Given the description of an element on the screen output the (x, y) to click on. 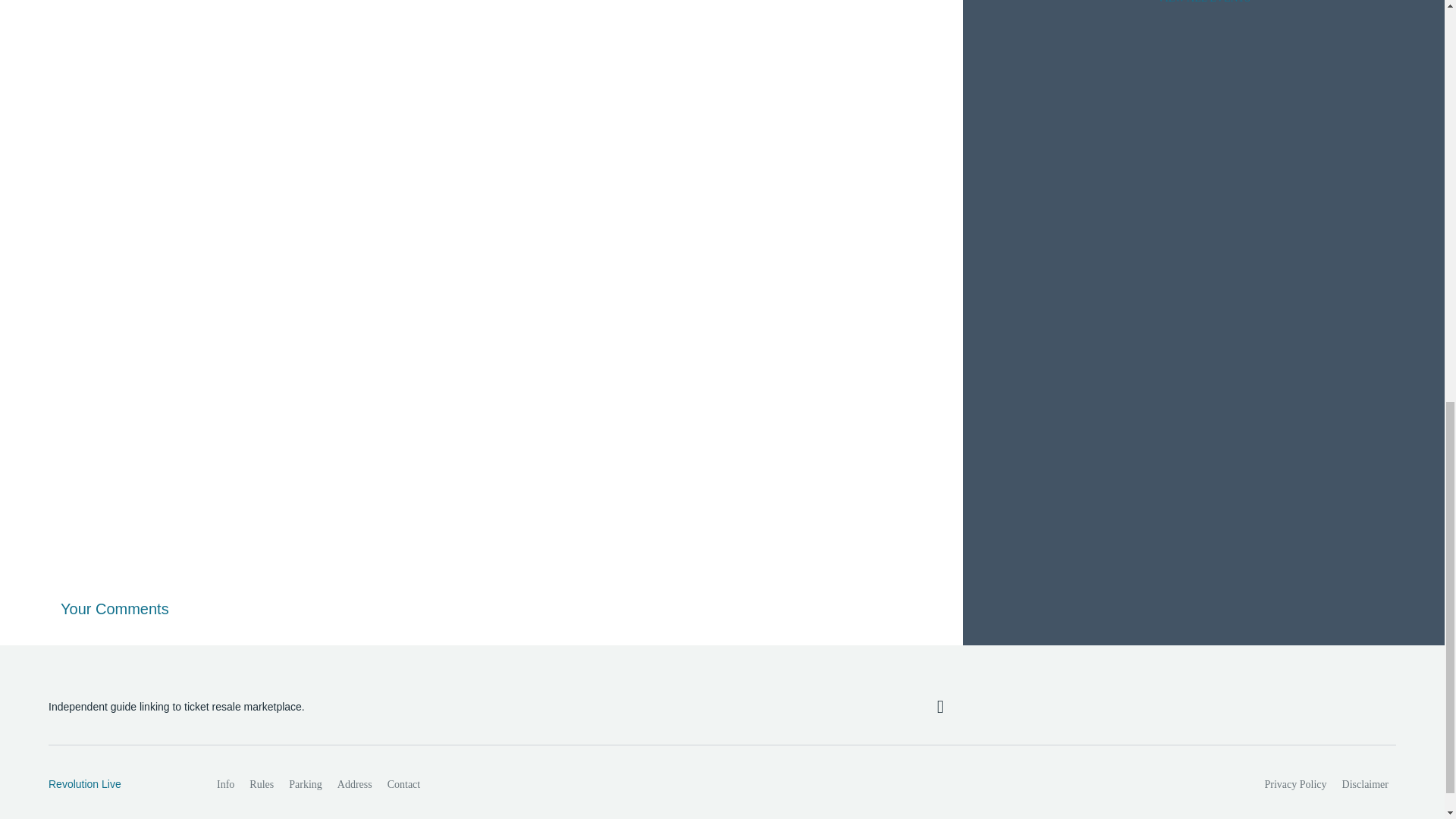
Address (355, 784)
Contact (404, 784)
Privacy Policy (1296, 784)
Info (225, 784)
Disclaimer (1365, 784)
Rules (261, 784)
Revolution Live (116, 784)
Parking (305, 784)
VIEW ALL EVENTS (1203, 6)
